Given the description of an element on the screen output the (x, y) to click on. 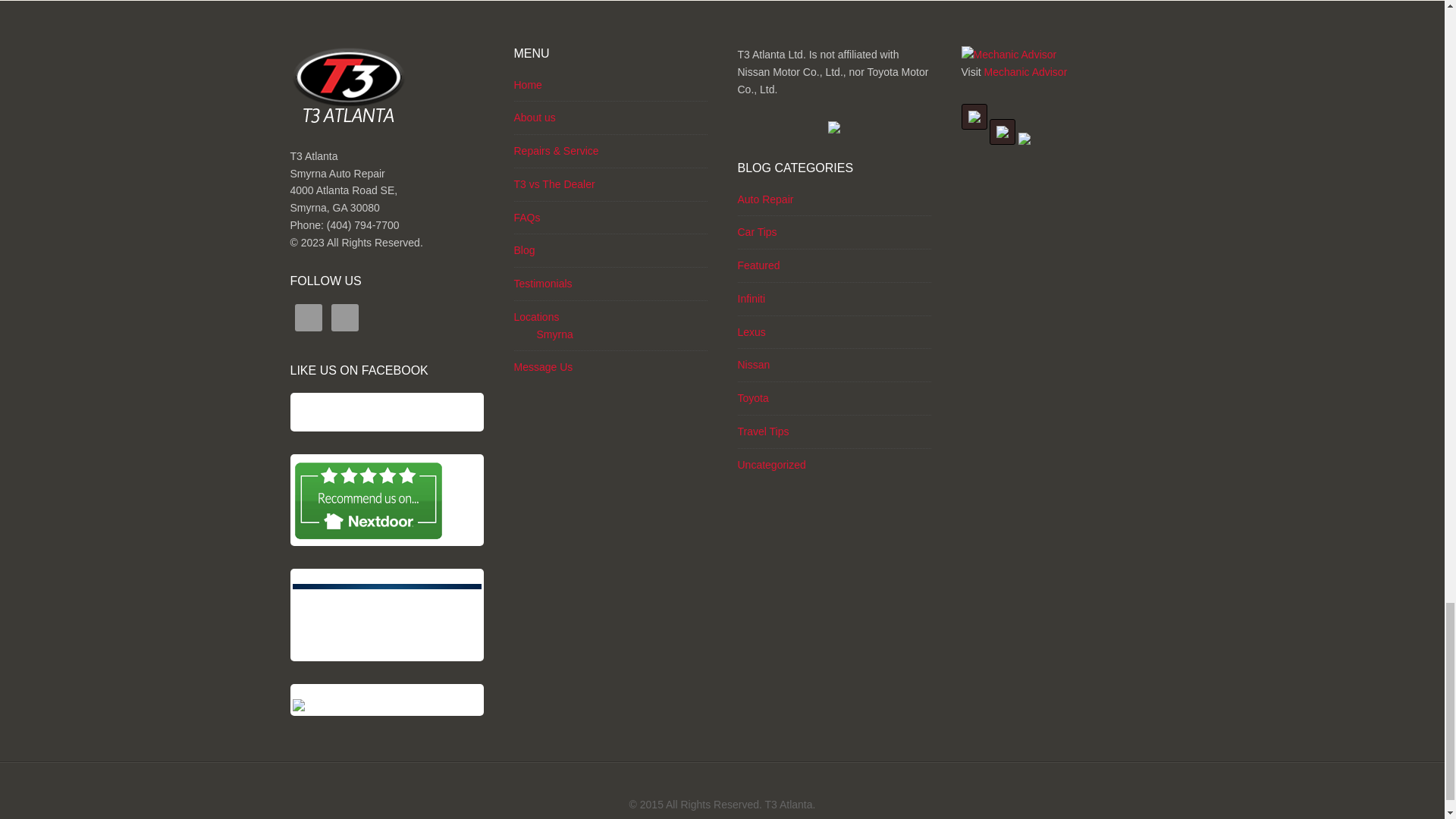
Auto Repair (764, 199)
Featured (757, 265)
About us (534, 117)
Smyrna (555, 334)
Lexus (750, 331)
Blog (524, 250)
FAQs (526, 217)
Infiniti (750, 298)
Car Tips (756, 232)
T3 vs The Dealer (554, 184)
Locations (536, 316)
Message Us (543, 367)
Home (527, 84)
Testimonials (542, 283)
